Given the description of an element on the screen output the (x, y) to click on. 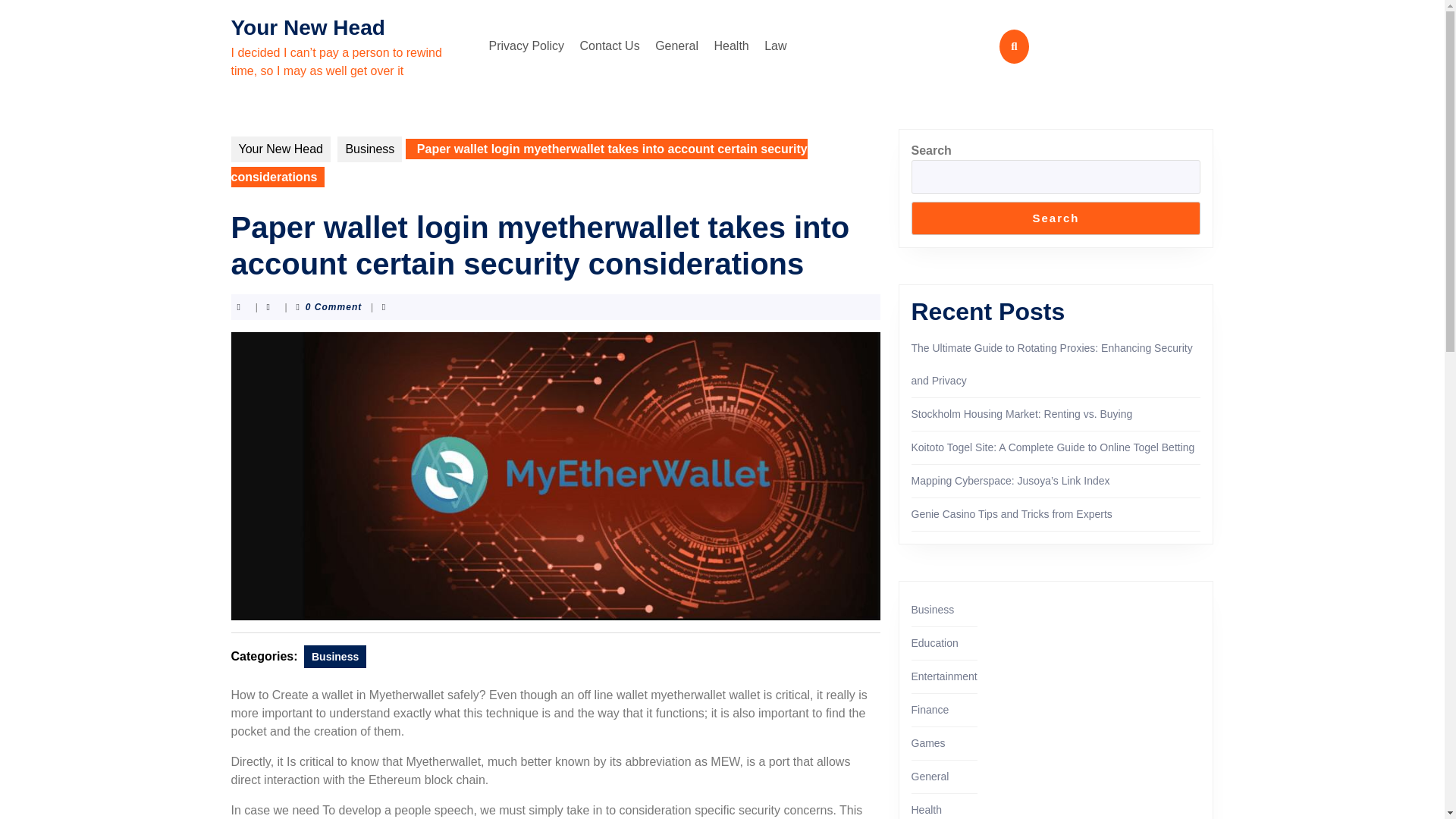
Business (933, 609)
Health (731, 46)
Games (927, 743)
General (930, 776)
Privacy Policy (525, 46)
Search (1056, 218)
Health (926, 809)
Education (934, 643)
Business (335, 656)
Law (775, 46)
General (676, 46)
Your New Head (307, 27)
Your New Head (280, 149)
Genie Casino Tips and Tricks from Experts (1011, 513)
